Given the description of an element on the screen output the (x, y) to click on. 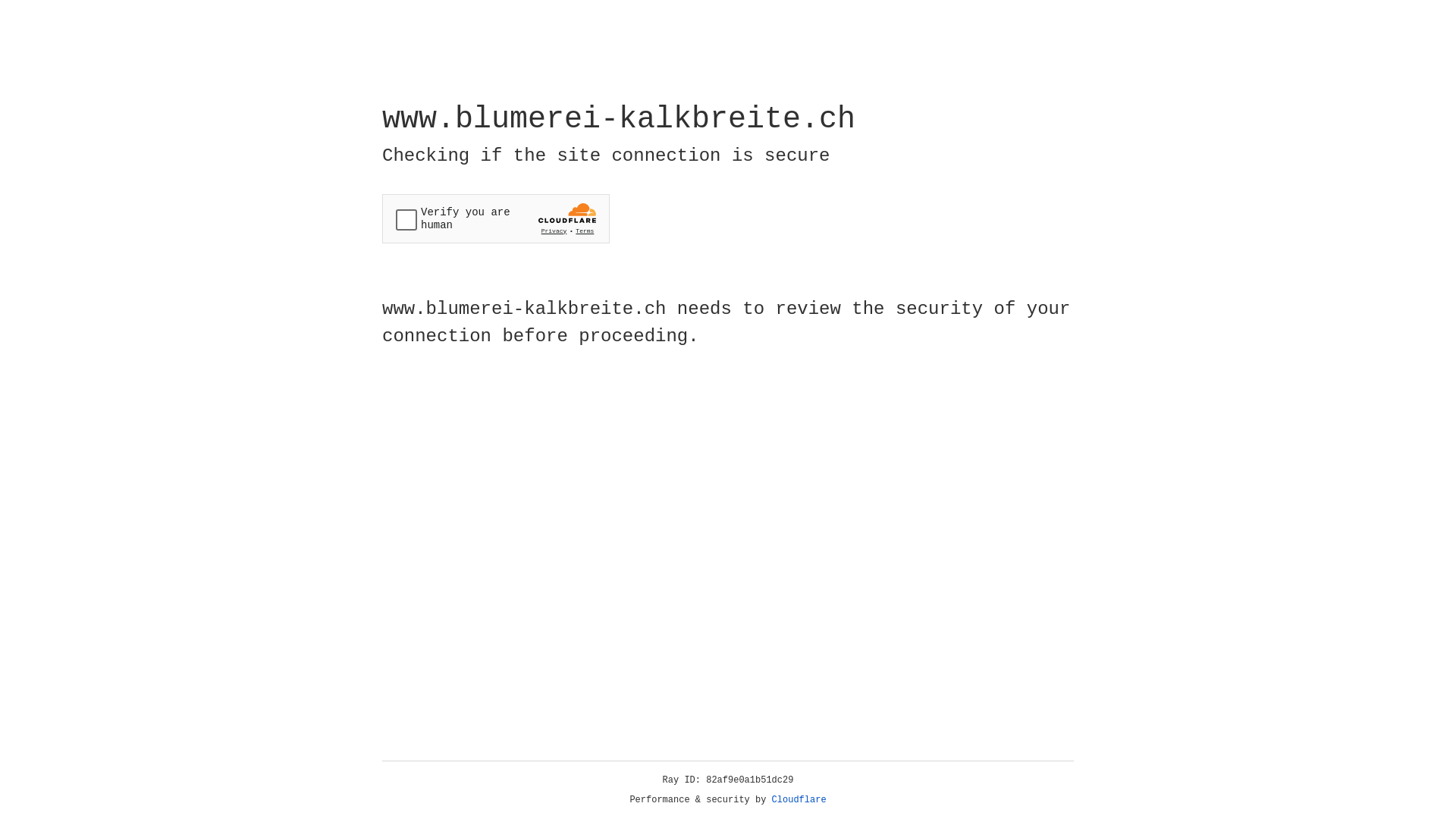
Cloudflare Element type: text (798, 799)
Widget containing a Cloudflare security challenge Element type: hover (495, 218)
